Given the description of an element on the screen output the (x, y) to click on. 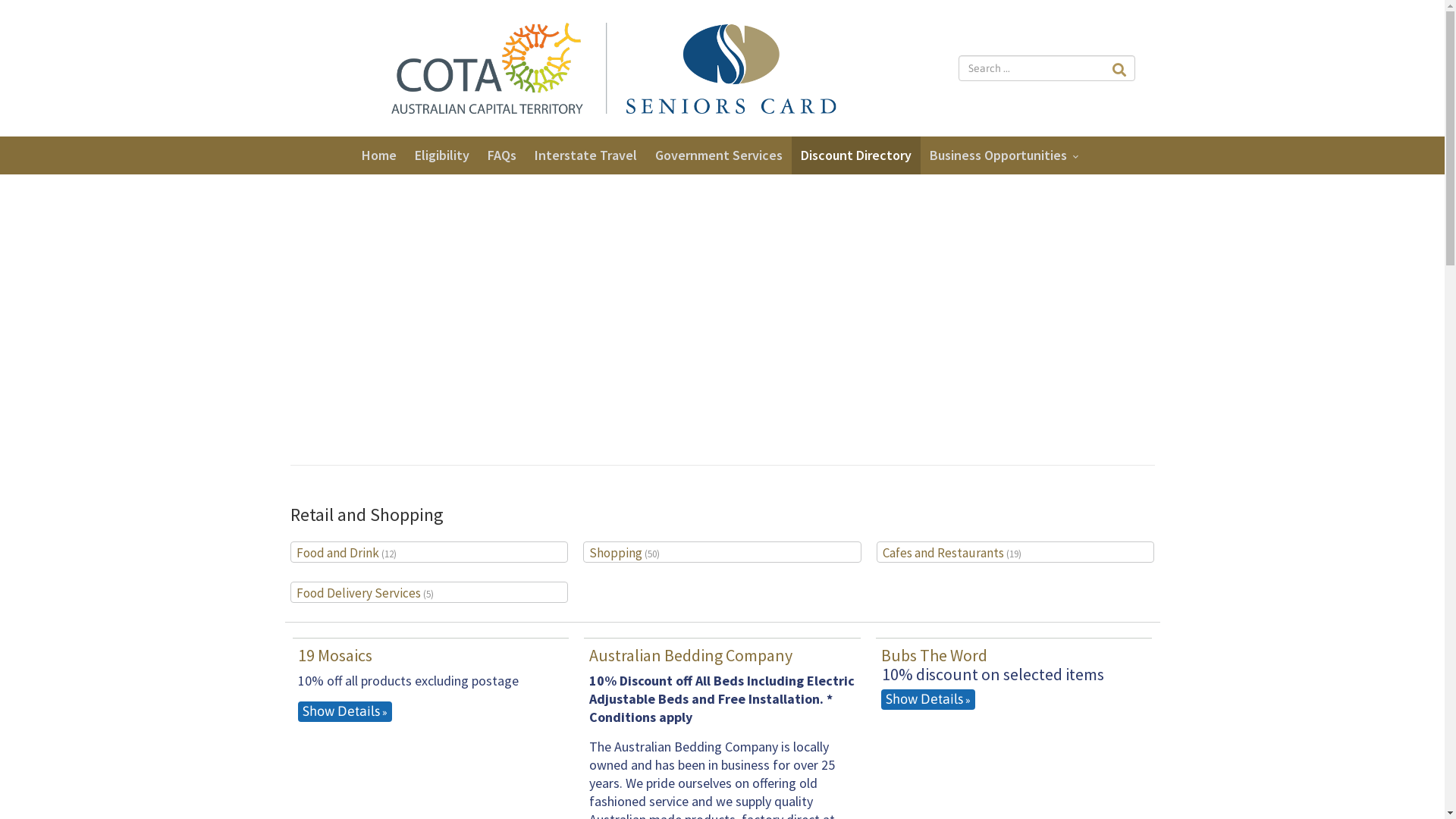
Government Services Element type: text (718, 155)
FAQs Element type: text (500, 155)
19 Mosaics Element type: text (334, 654)
Food Delivery Services Element type: text (357, 592)
Eligibility Element type: text (440, 155)
Show Details Element type: text (928, 699)
Interstate Travel Element type: text (584, 155)
Australian Bedding Company Element type: text (690, 654)
Home Element type: text (377, 155)
Shopping Element type: text (615, 552)
Discount Directory Element type: text (855, 155)
Business Opportunities Element type: text (1006, 155)
Cafes and Restaurants Element type: text (943, 552)
Food and Drink Element type: text (336, 552)
Bubs The Word Element type: text (934, 654)
Show Details Element type: text (344, 711)
